Given the description of an element on the screen output the (x, y) to click on. 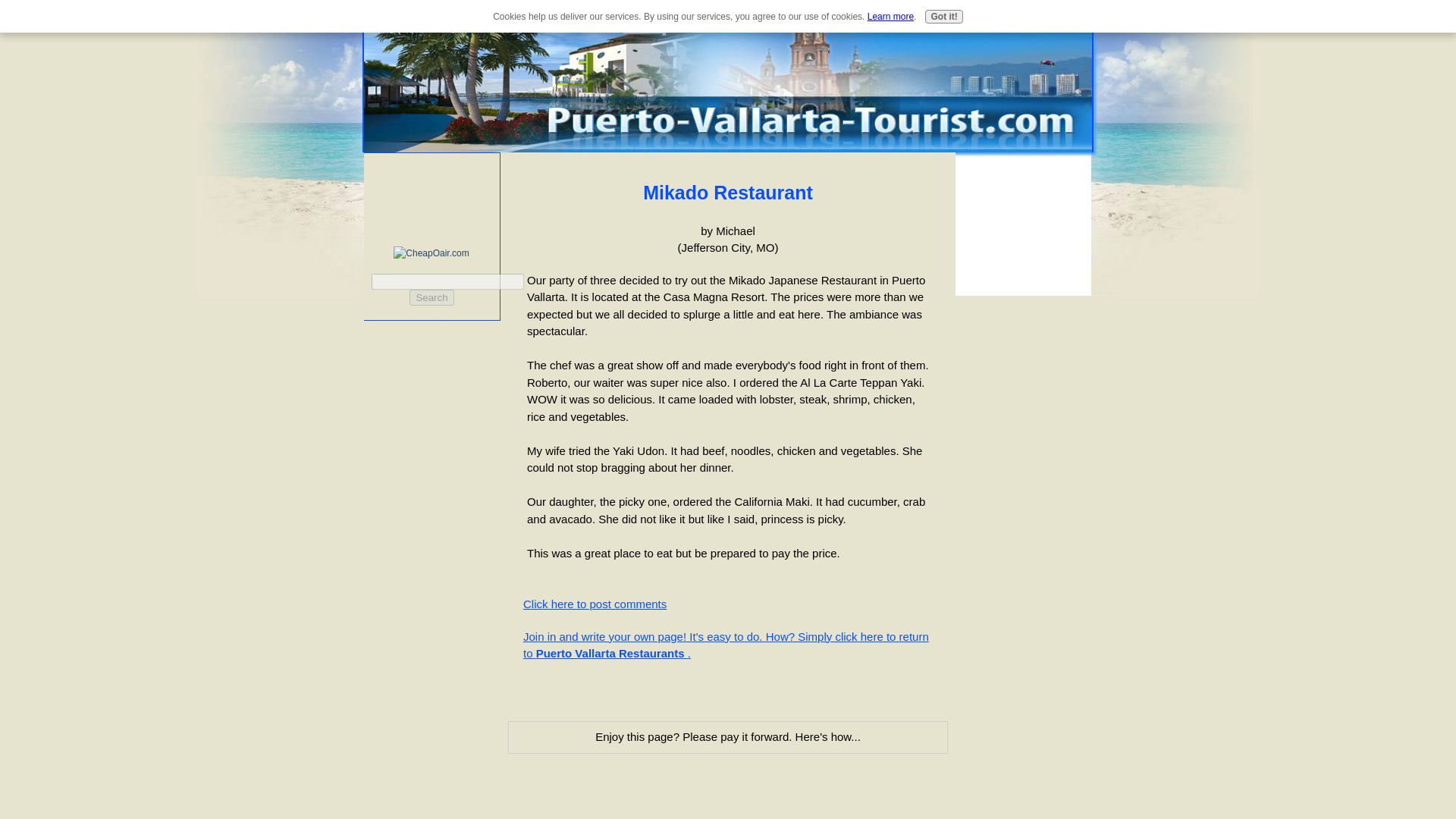
Click here to post comments (594, 603)
Learn more (890, 16)
Search (430, 297)
Search (430, 297)
Got it! (943, 16)
